Given the description of an element on the screen output the (x, y) to click on. 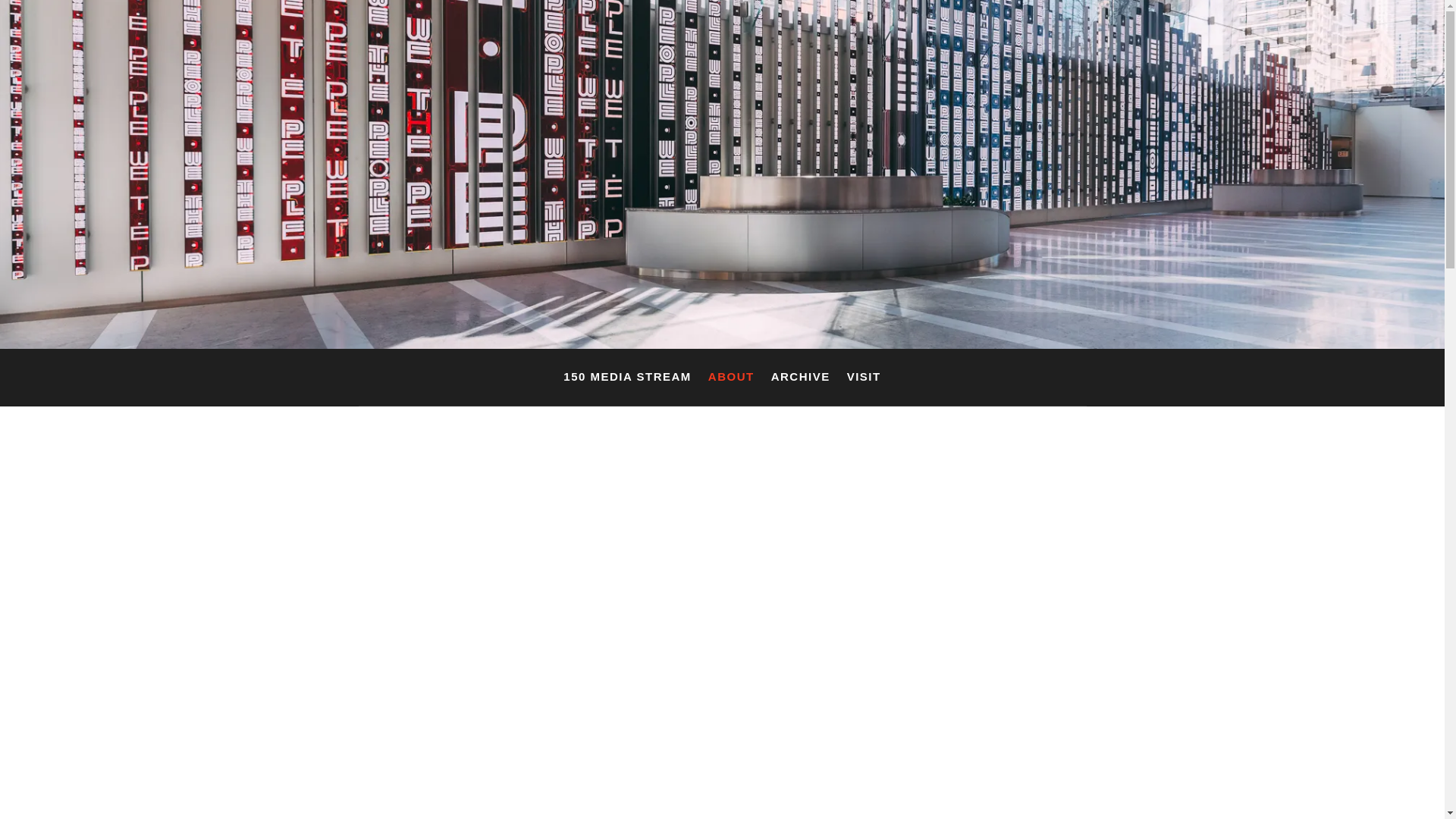
150 MEDIA STREAM Element type: text (626, 379)
ABOUT Element type: text (731, 379)
ARCHIVE Element type: text (800, 379)
VISIT Element type: text (864, 379)
Skip to content Element type: text (0, 0)
